Given the description of an element on the screen output the (x, y) to click on. 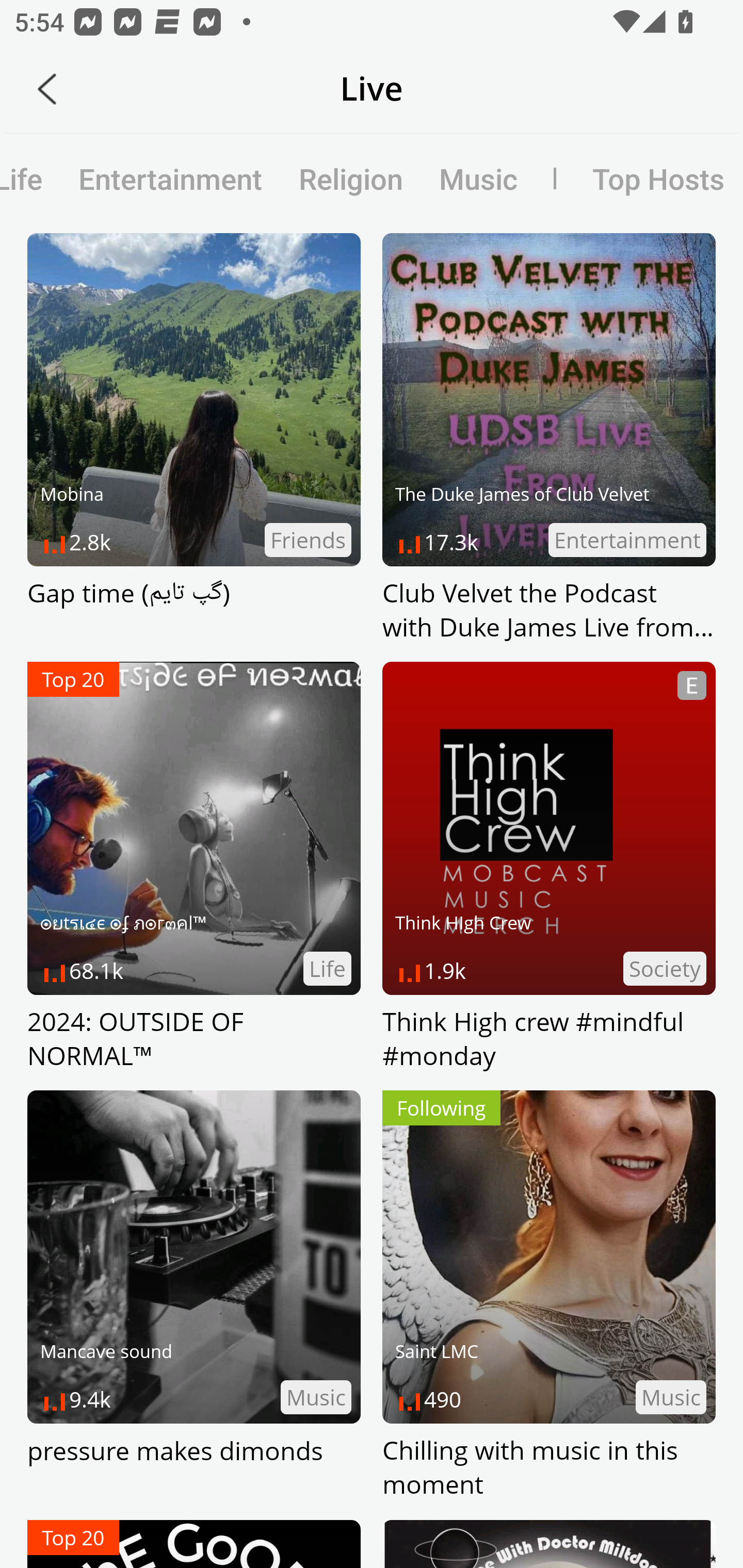
Back (46, 88)
Entertainment (170, 178)
Religion (350, 178)
Music (478, 178)
Top Hosts (639, 178)
Mobina 2.8k Friends Gap time (گپ تایم) (193, 438)
Mancave sound 9.4k Music pressure makes dimonds (193, 1295)
